Given the description of an element on the screen output the (x, y) to click on. 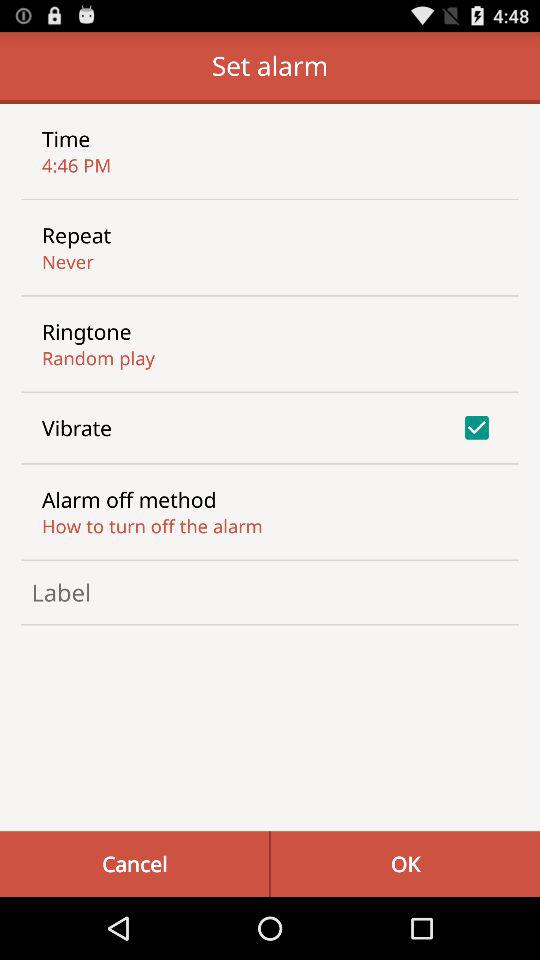
tap ok icon (405, 863)
